Given the description of an element on the screen output the (x, y) to click on. 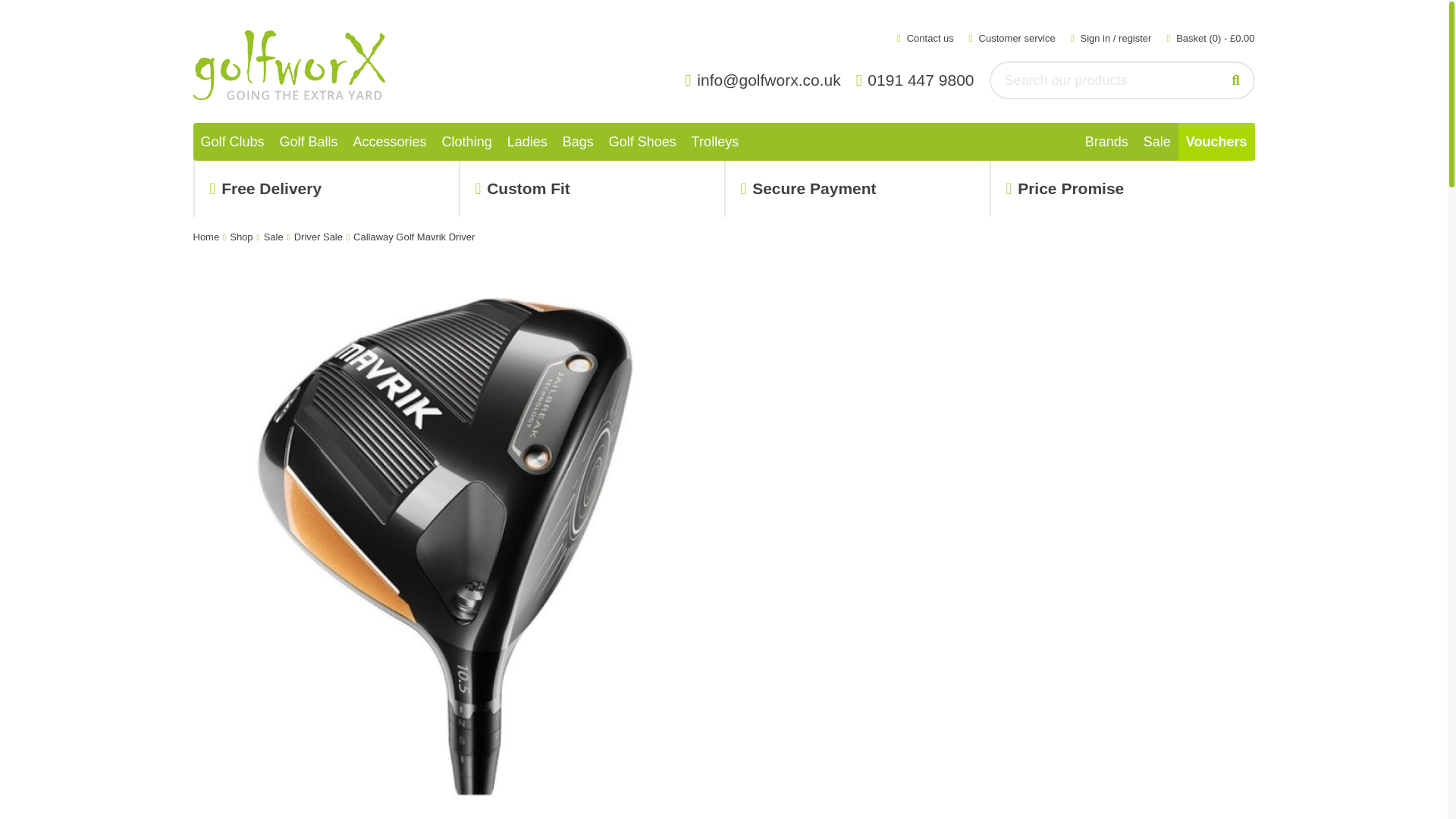
Customer service (1011, 37)
Accessories (389, 141)
0191 447 9800 (919, 80)
Contact us (924, 37)
Golf Balls (309, 141)
Golf Clubs (231, 141)
